Given the description of an element on the screen output the (x, y) to click on. 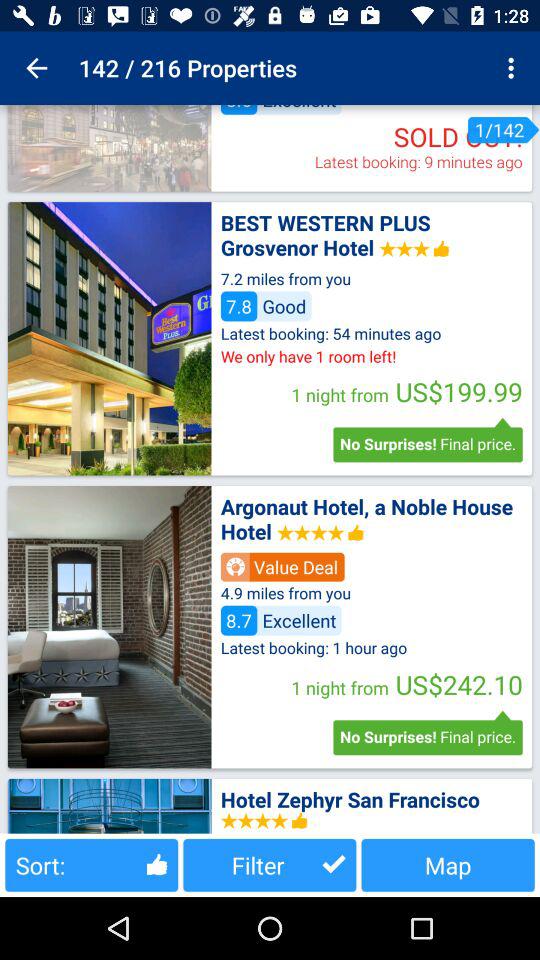
view image (109, 148)
